Given the description of an element on the screen output the (x, y) to click on. 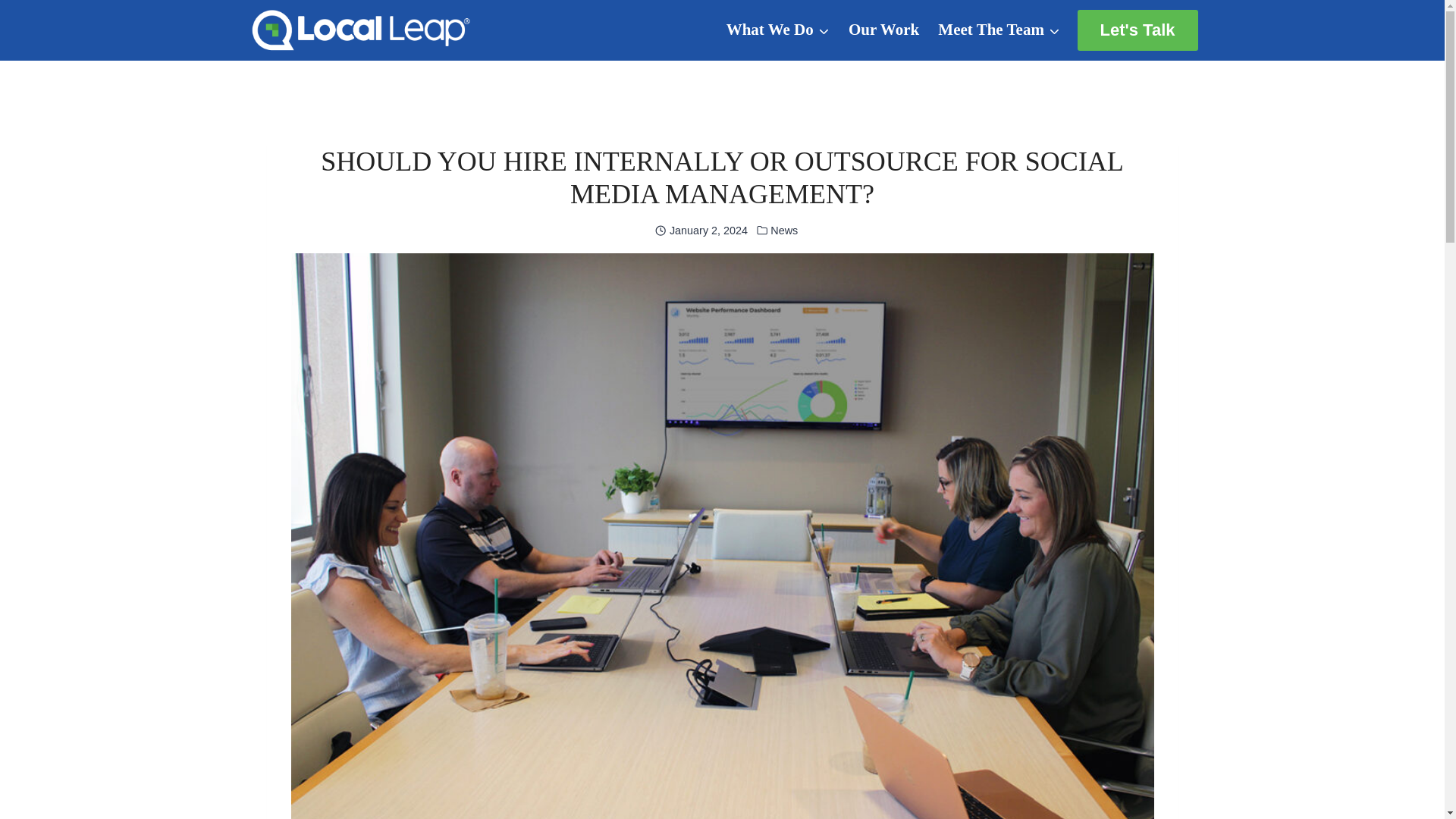
News (783, 230)
Our Work (883, 30)
Meet The Team (999, 30)
Let'S Talk (1137, 29)
What We Do (777, 30)
